Given the description of an element on the screen output the (x, y) to click on. 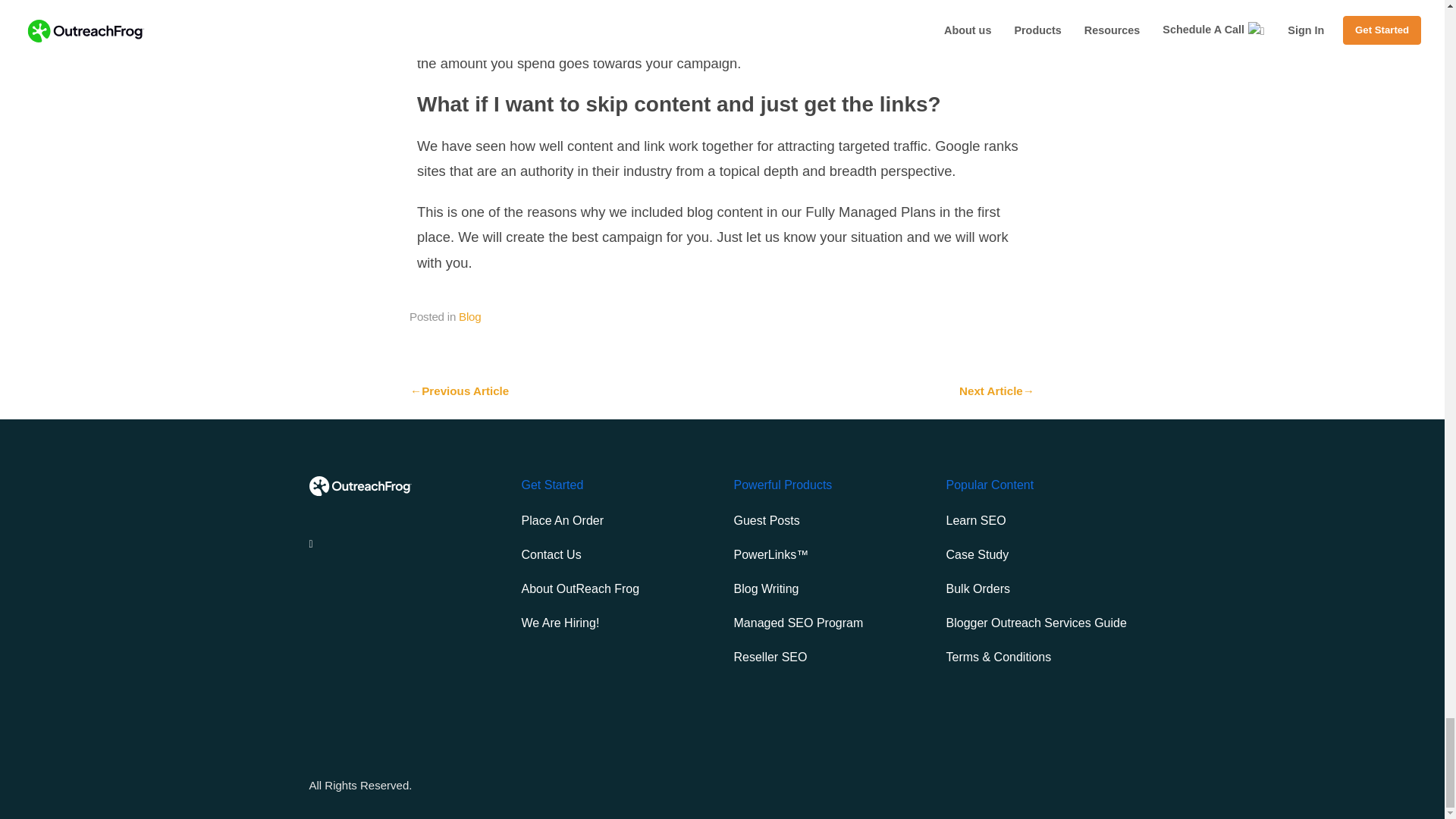
Place An Order (562, 520)
Case Study (977, 554)
Reseller SEO (770, 656)
OutReachFrog (360, 488)
Blog Writing (766, 588)
Contact Us (550, 554)
Guest Posts (766, 520)
We Are Hiring! (560, 622)
Bulk Orders (978, 588)
Managed SEO Program (798, 622)
About OutReach Frog (580, 588)
Blog (469, 316)
Learn SEO (976, 520)
